Given the description of an element on the screen output the (x, y) to click on. 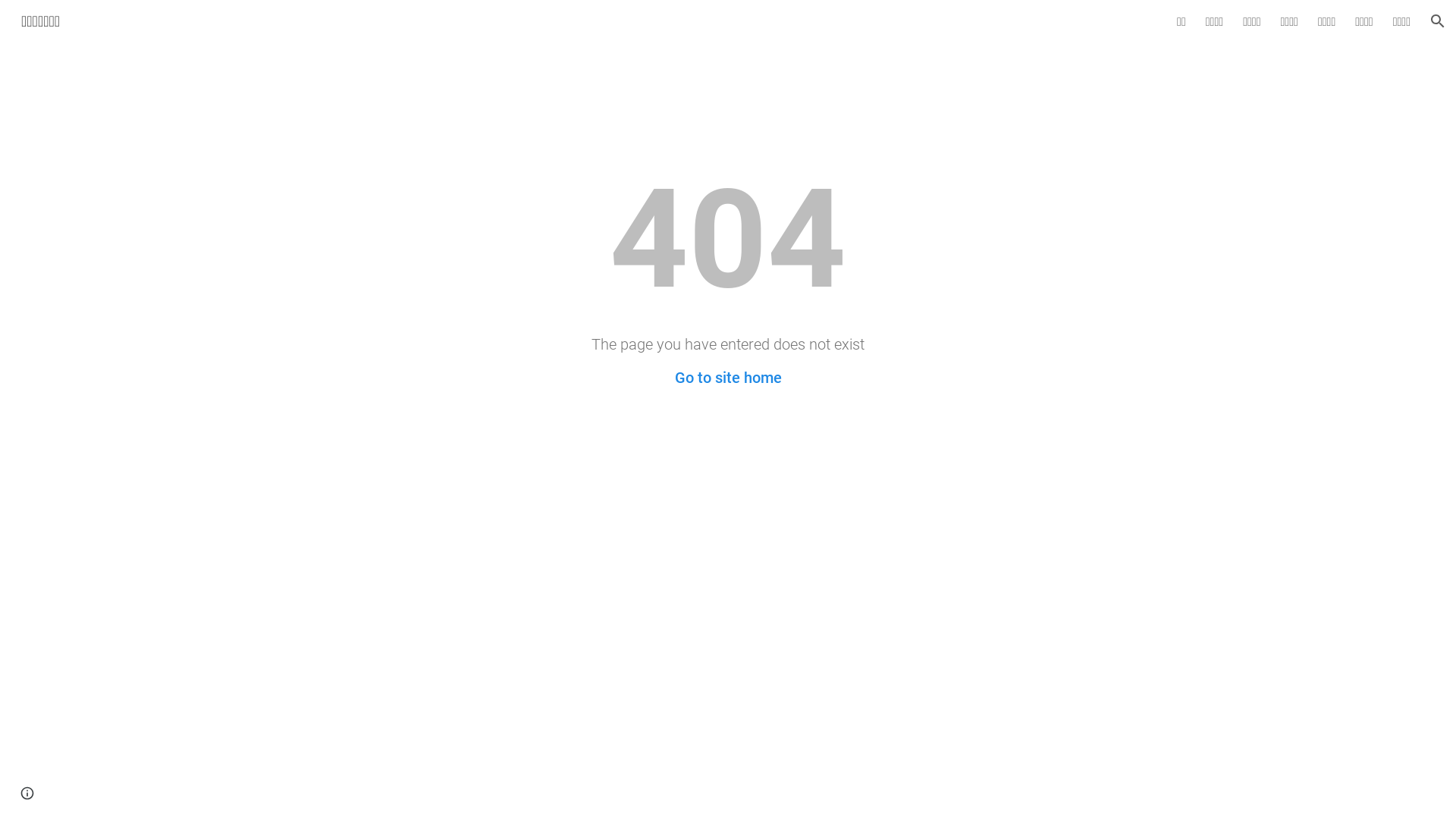
Go to site home Element type: text (727, 377)
